Given the description of an element on the screen output the (x, y) to click on. 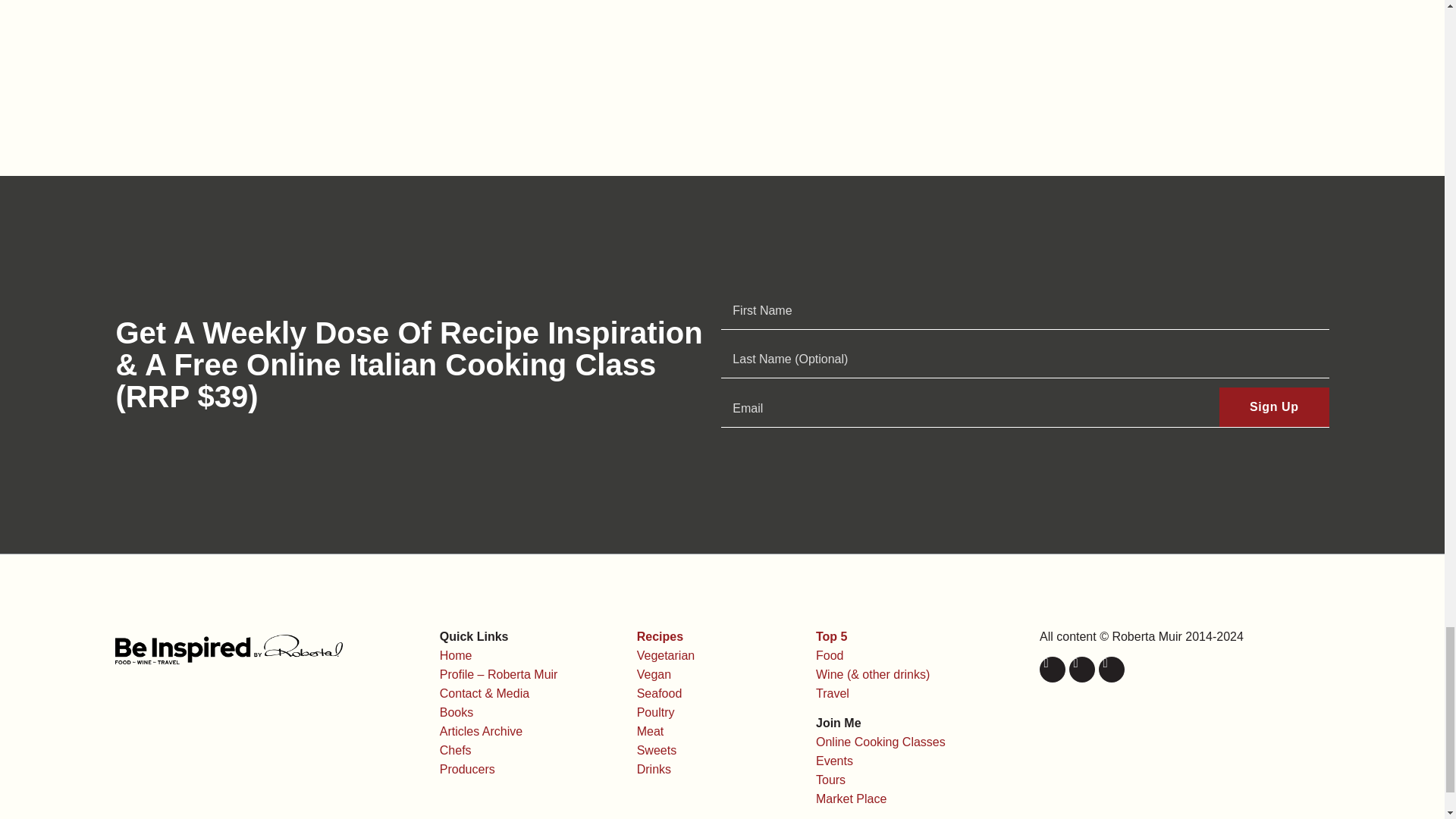
Sign up (1274, 407)
